Given the description of an element on the screen output the (x, y) to click on. 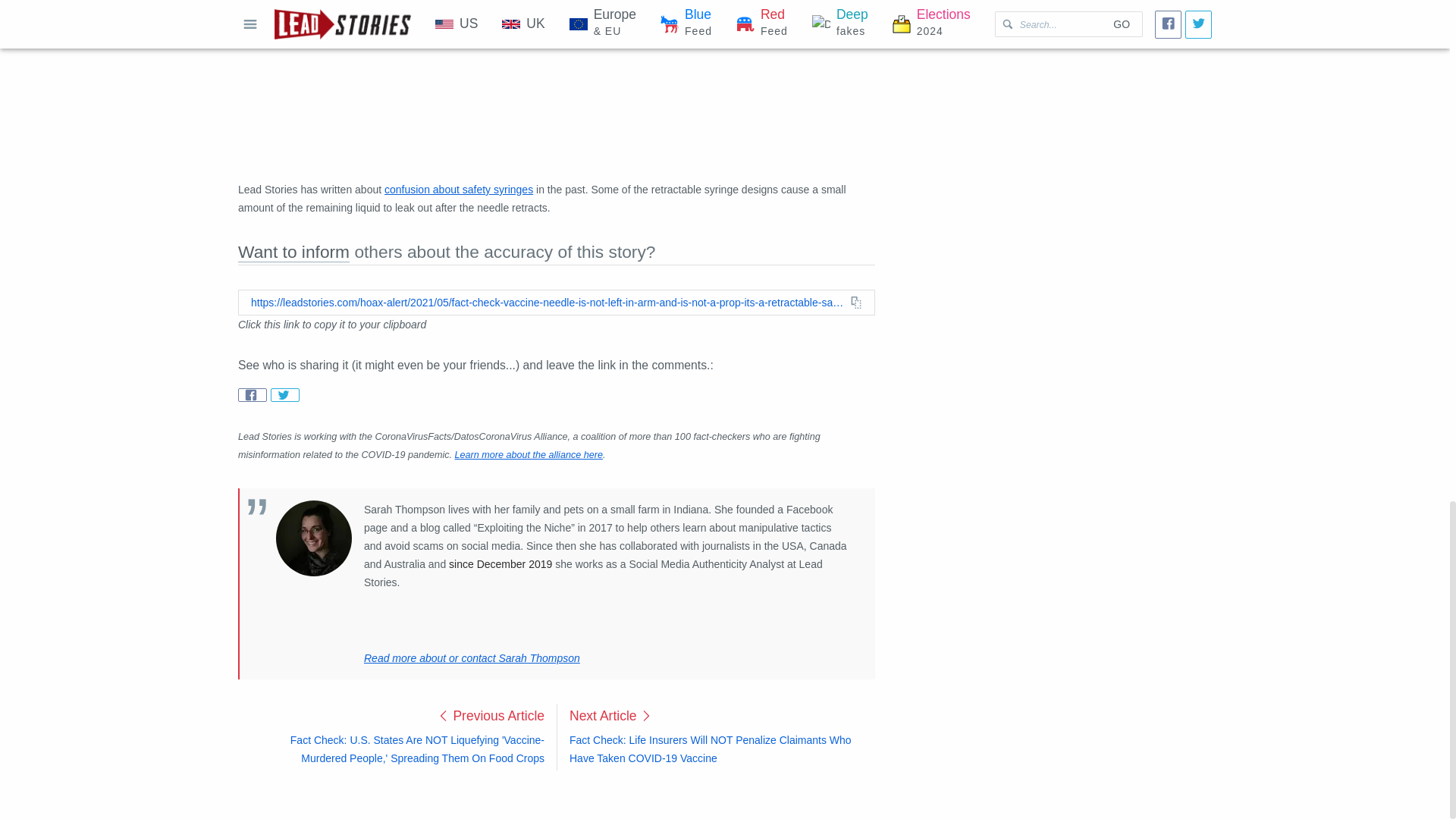
Read more about or contact Sarah Thompson (471, 657)
Learn more about the alliance here (528, 454)
YouTube video player (555, 76)
confusion about safety syringes (458, 189)
